Given the description of an element on the screen output the (x, y) to click on. 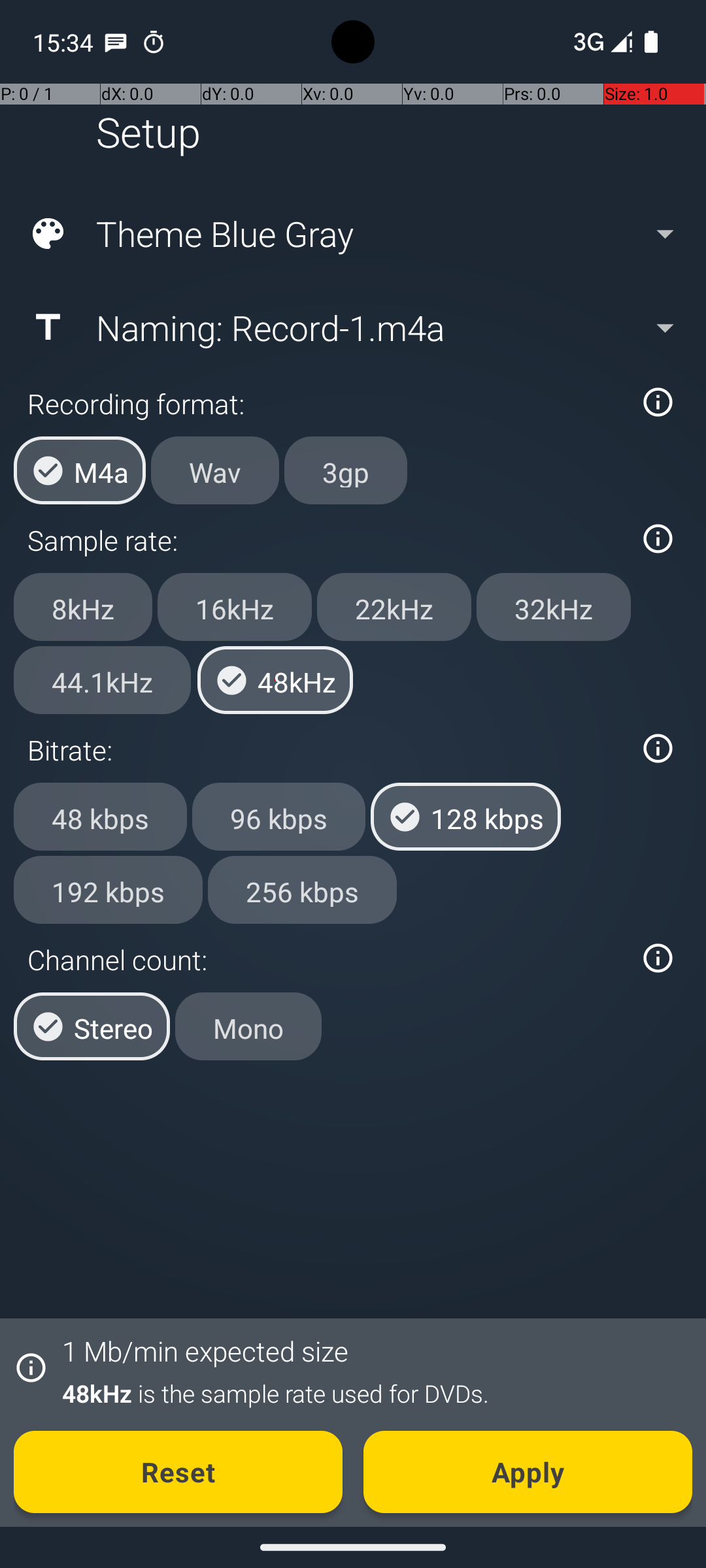
48kHz is the sample rate used for DVDs. Element type: android.widget.TextView (370, 1392)
